Given the description of an element on the screen output the (x, y) to click on. 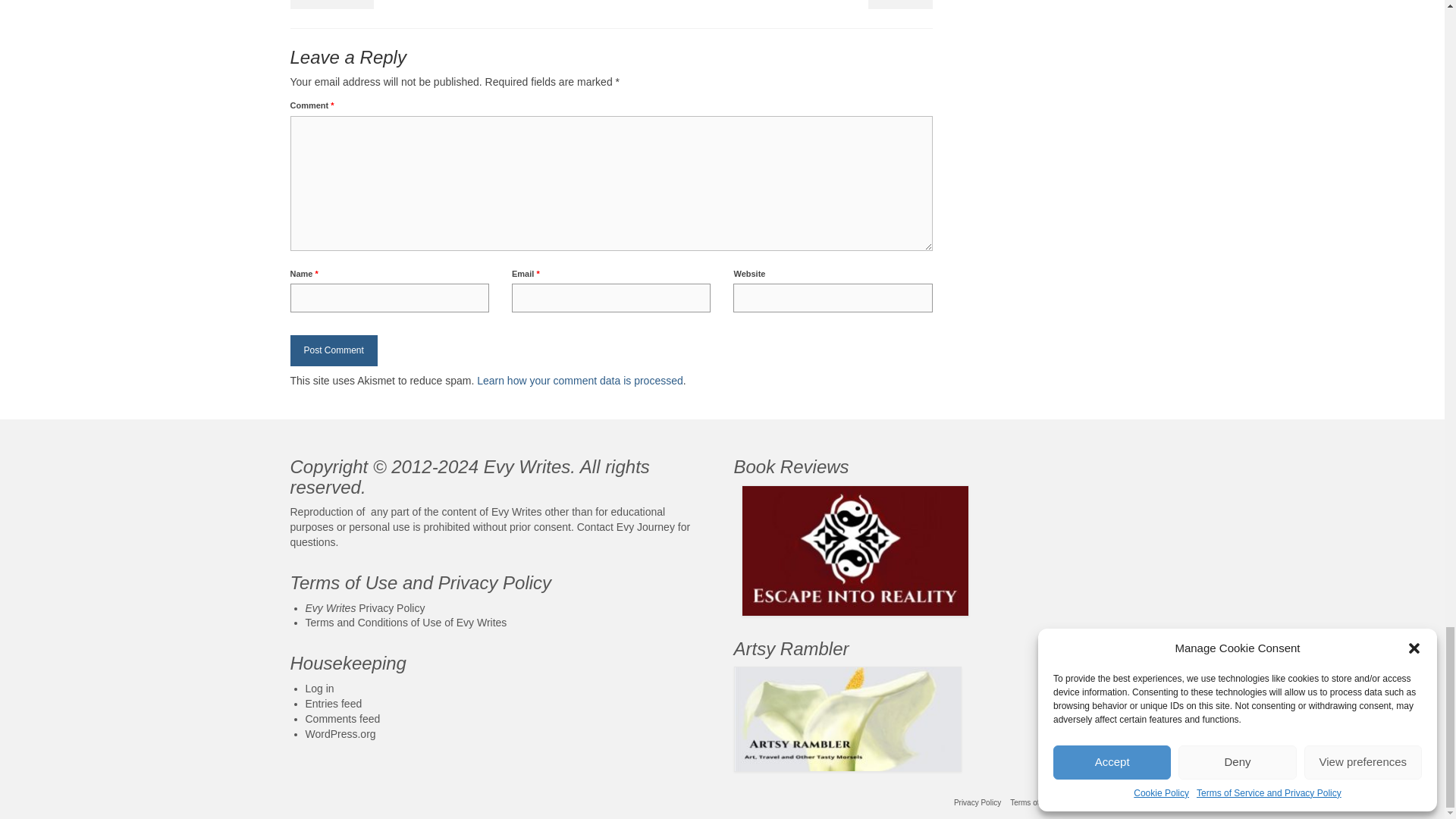
Post Comment (333, 350)
